Given the description of an element on the screen output the (x, y) to click on. 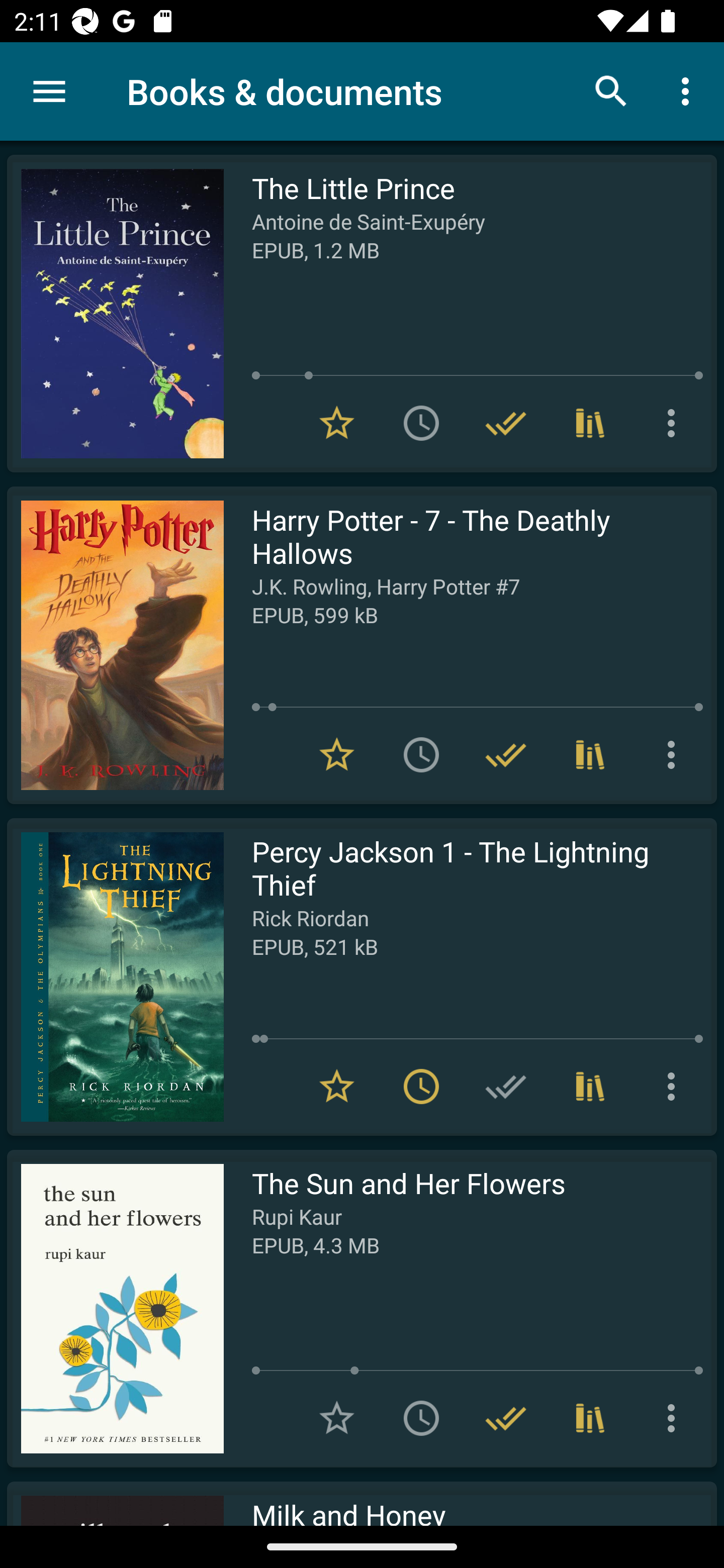
Menu (49, 91)
Search books & documents (611, 90)
More options (688, 90)
Read The Little Prince (115, 313)
Remove from Favorites (336, 423)
Add to To read (421, 423)
Remove from Have read (505, 423)
Collections (1) (590, 423)
More options (674, 423)
Read Harry Potter - 7 - The Deathly Hallows (115, 645)
Remove from Favorites (336, 753)
Add to To read (421, 753)
Remove from Have read (505, 753)
Collections (3) (590, 753)
More options (674, 753)
Read Percy Jackson 1 - The Lightning Thief (115, 976)
Remove from Favorites (336, 1086)
Remove from To read (421, 1086)
Add to Have read (505, 1086)
Collections (1) (590, 1086)
More options (674, 1086)
Read The Sun and Her Flowers (115, 1308)
Add to Favorites (336, 1417)
Add to To read (421, 1417)
Remove from Have read (505, 1417)
Collections (1) (590, 1417)
More options (674, 1417)
